Given the description of an element on the screen output the (x, y) to click on. 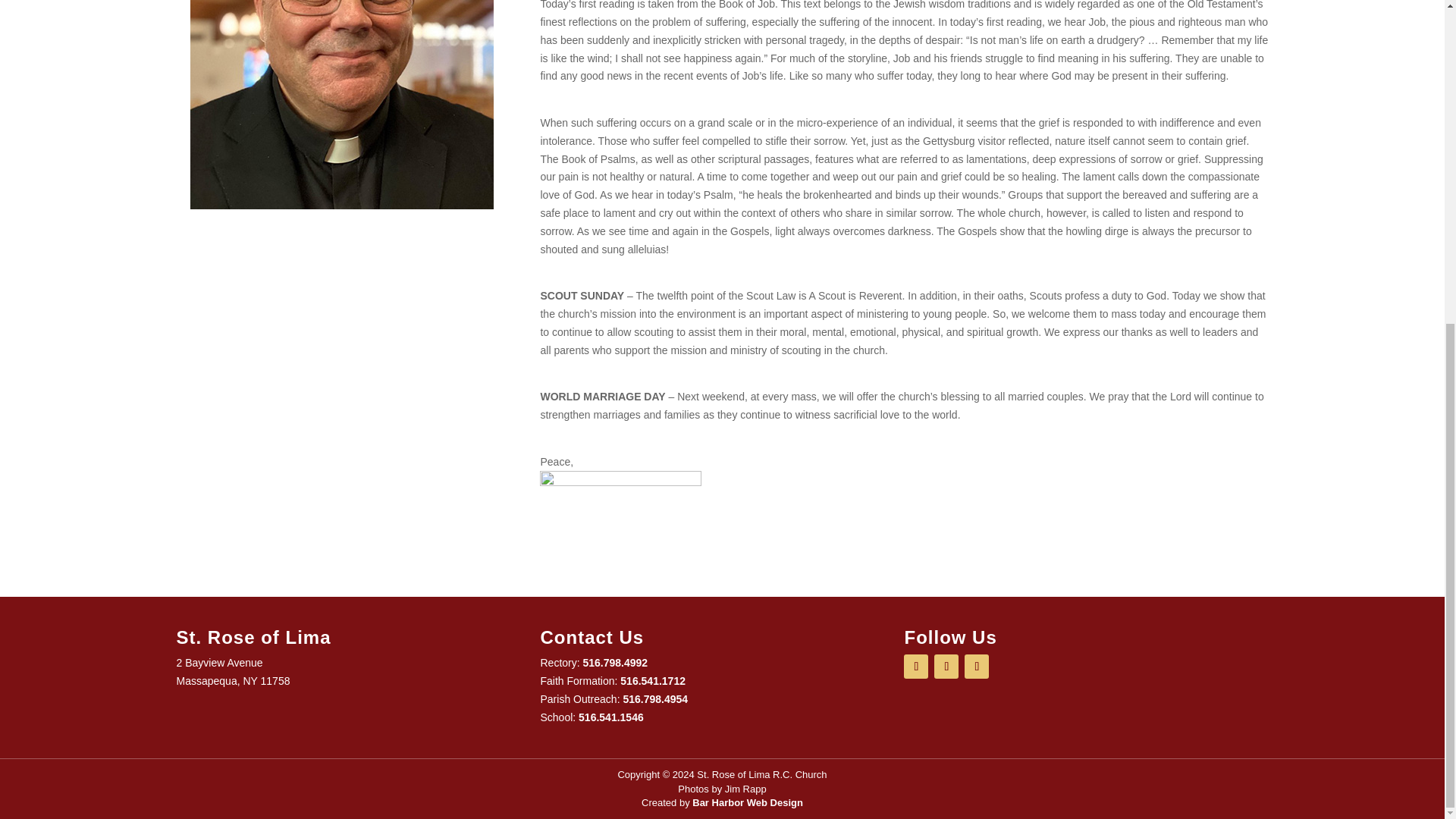
st-rose-of-lima-parish-clergy-rev-gerard-gentleman (341, 104)
Follow on Instagram (975, 666)
Follow on Youtube (946, 666)
Follow on Facebook (916, 666)
